Given the description of an element on the screen output the (x, y) to click on. 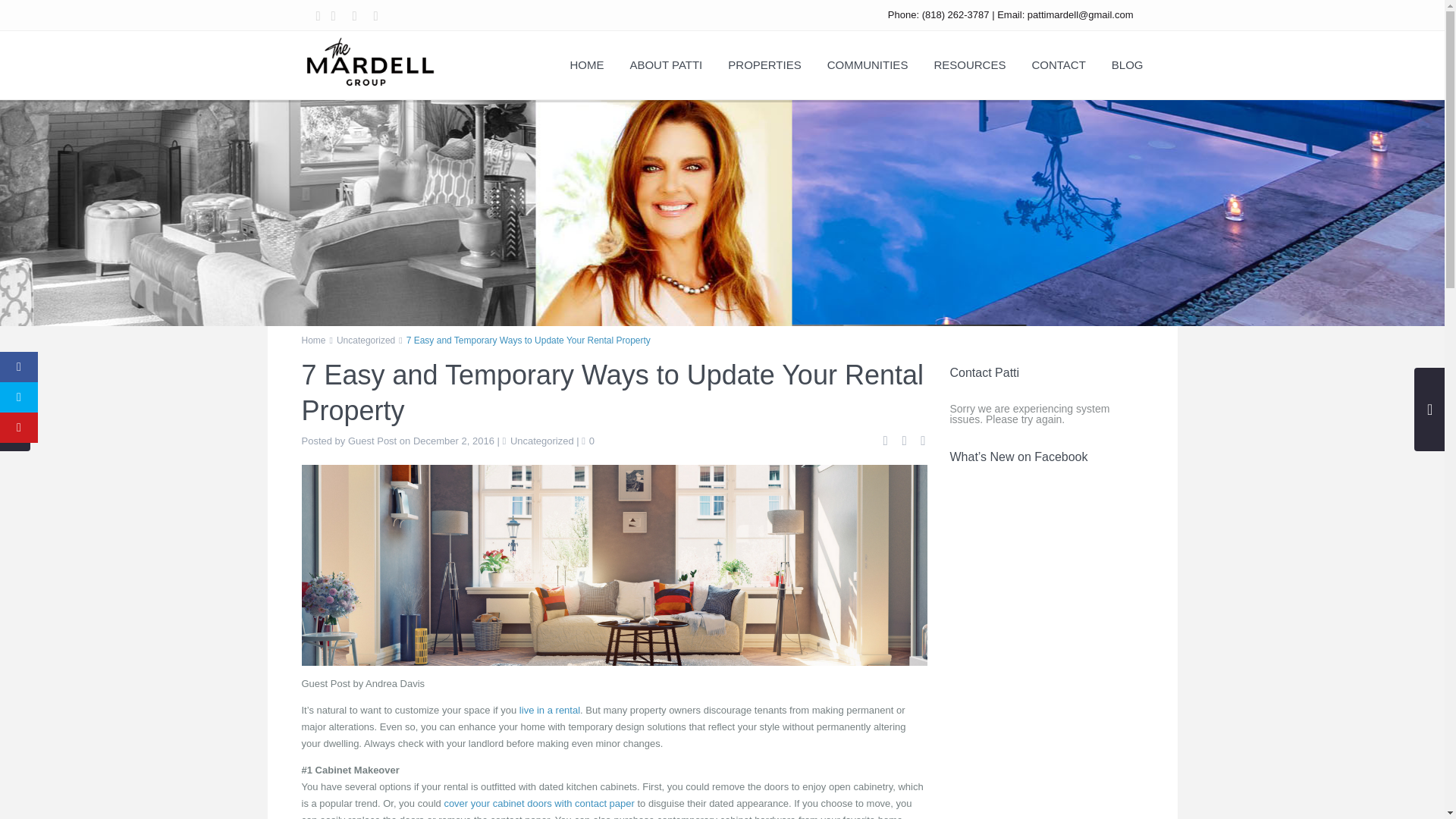
ABOUT PATTI (664, 70)
COMMUNITIES (867, 70)
PROPERTIES (763, 70)
HOME (585, 70)
7 Easy and Temporary Ways to Update Your Rental Property (614, 564)
